Given the description of an element on the screen output the (x, y) to click on. 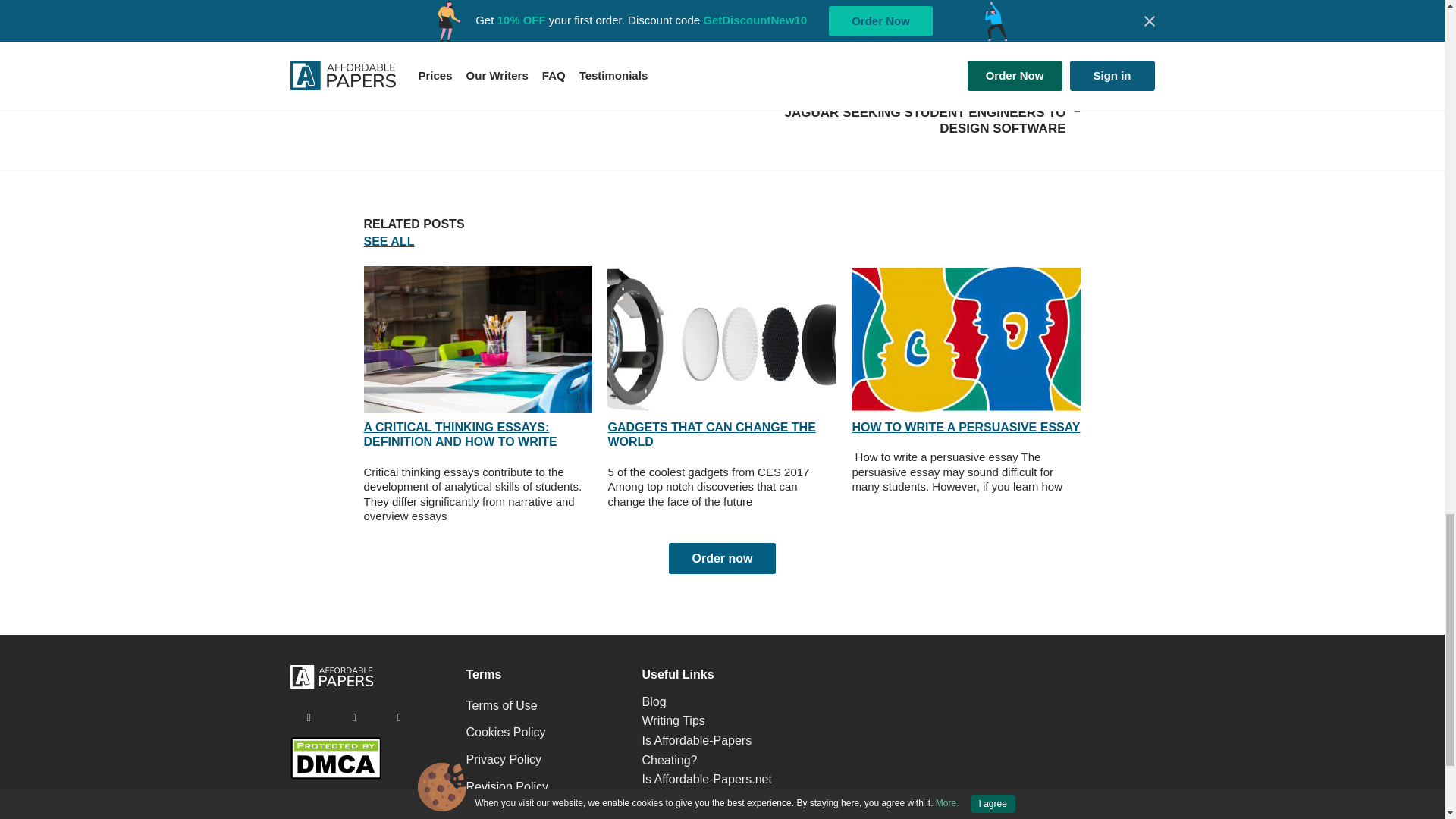
Is Affordable-Papers Cheating? (696, 750)
Follow us at Twitter (353, 717)
Is Affordable-Papers.net Trustworthy? (706, 788)
Revision Policy (506, 786)
Order now (721, 558)
A Critical Thinking essays: definition and how to write (478, 339)
Cookies Policy (504, 732)
DMCA.com Protection Status (334, 775)
GADGETS THAT CAN CHANGE THE WORLD (908, 114)
Terms of Use (711, 433)
How to write a persuasive essay (501, 705)
Gadgets that can change the world (965, 339)
Privacy Policy (721, 339)
Affordable-Papers.net (503, 759)
